Given the description of an element on the screen output the (x, y) to click on. 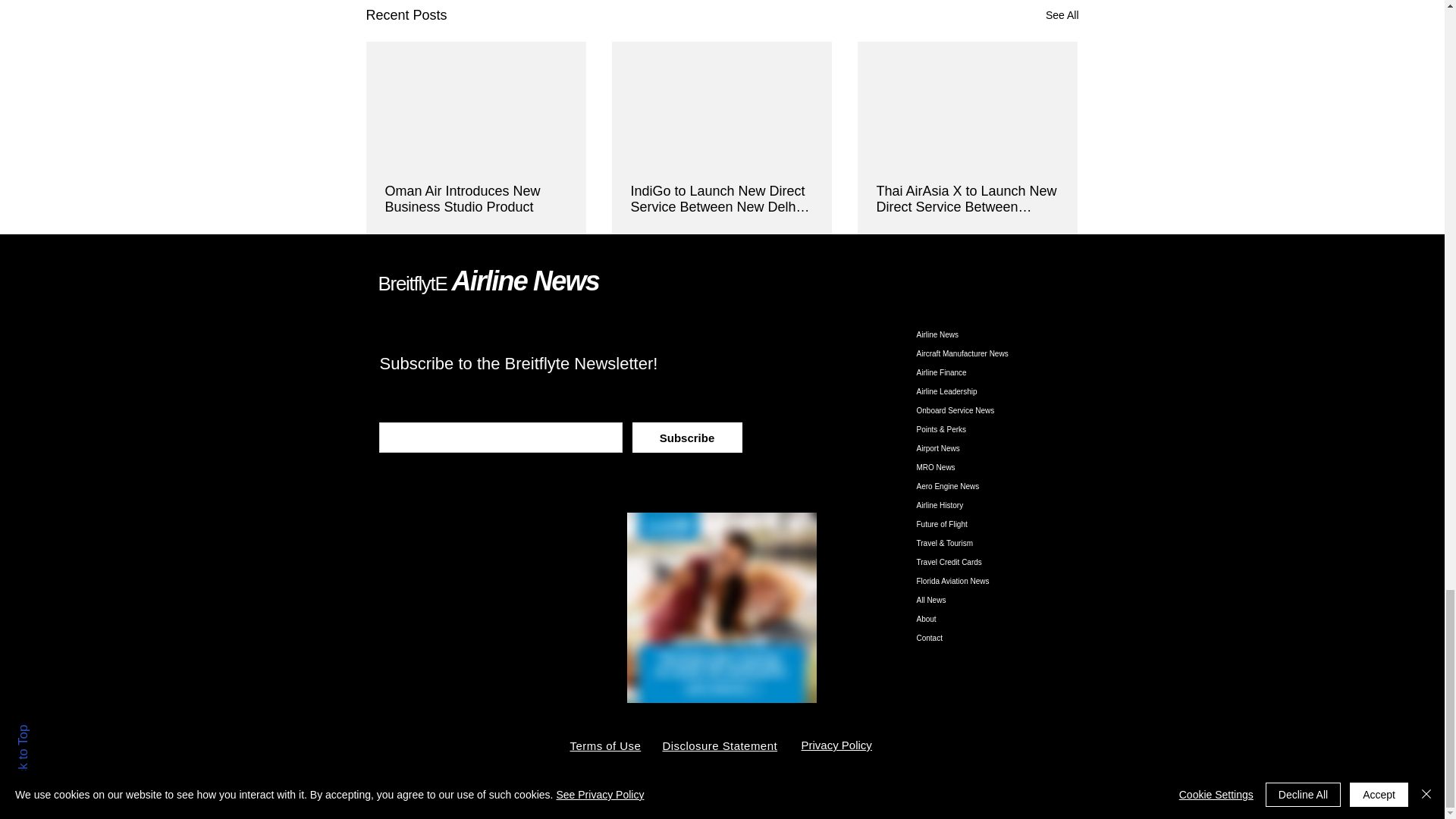
See All (1061, 15)
Breit (395, 282)
Oman Air Introduces New Business Studio Product (476, 199)
